Given the description of an element on the screen output the (x, y) to click on. 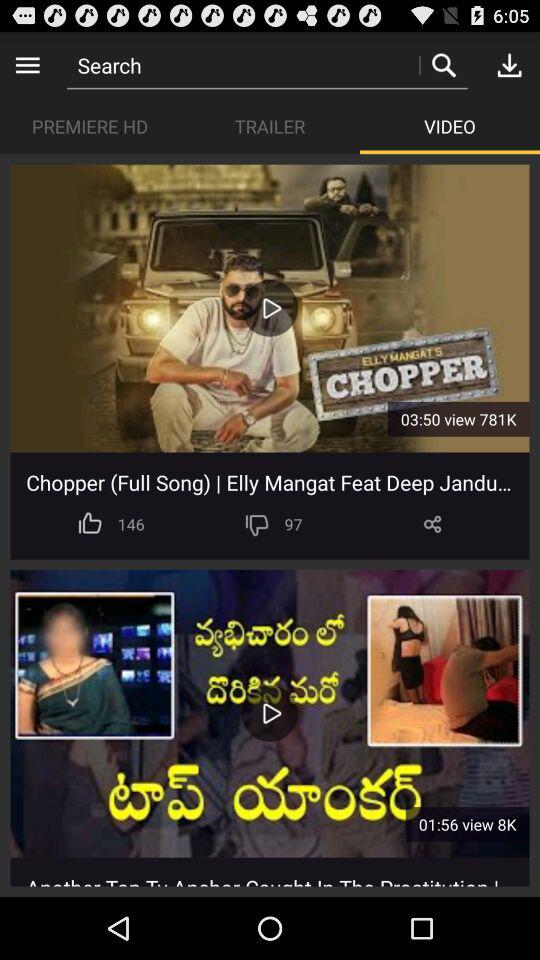
turn off the icon above premiere hd (27, 64)
